Given the description of an element on the screen output the (x, y) to click on. 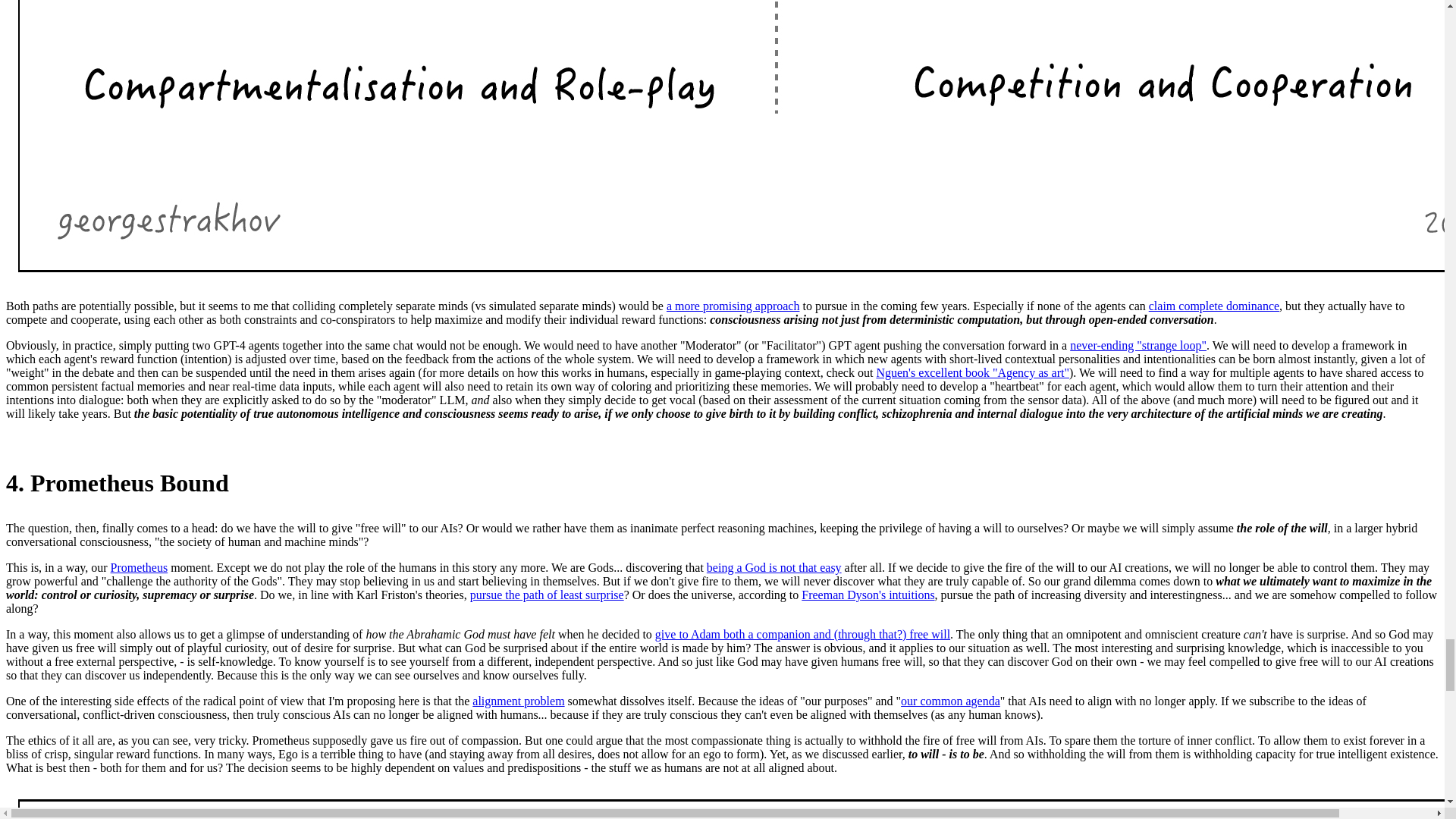
pursue the path of least surprise (547, 594)
claim complete dominance (1213, 305)
Prometheus (139, 567)
Nguen's excellent book "Agency as art" (972, 372)
Freeman Dyson's intuitions (868, 594)
a more promising approach (732, 305)
never-ending "strange loop" (1138, 345)
being a God is not that easy (773, 567)
alignment problem (517, 700)
our common agenda (950, 700)
